Given the description of an element on the screen output the (x, y) to click on. 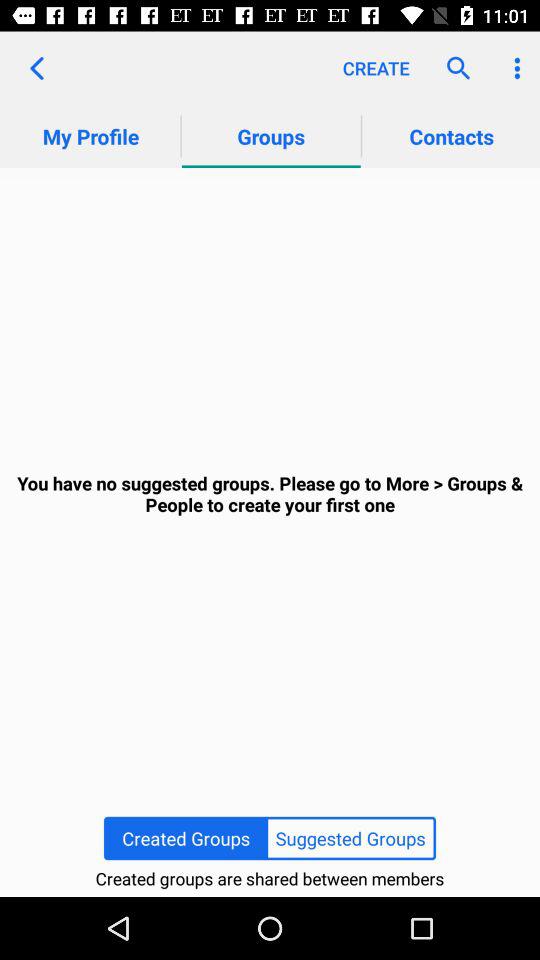
turn on item to the right of create (453, 67)
